Given the description of an element on the screen output the (x, y) to click on. 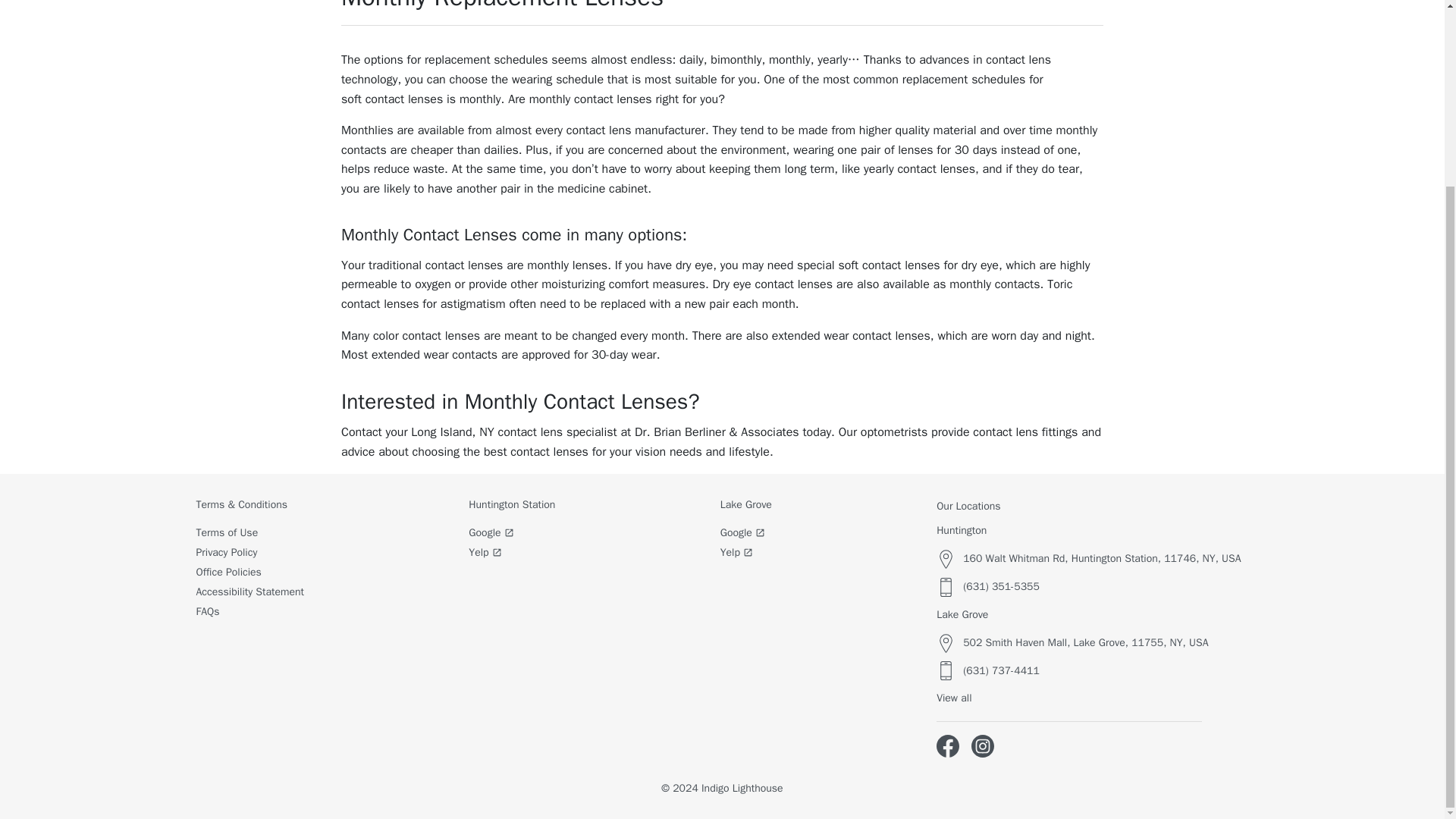
Instagram (982, 745)
Facebook (947, 745)
